Given the description of an element on the screen output the (x, y) to click on. 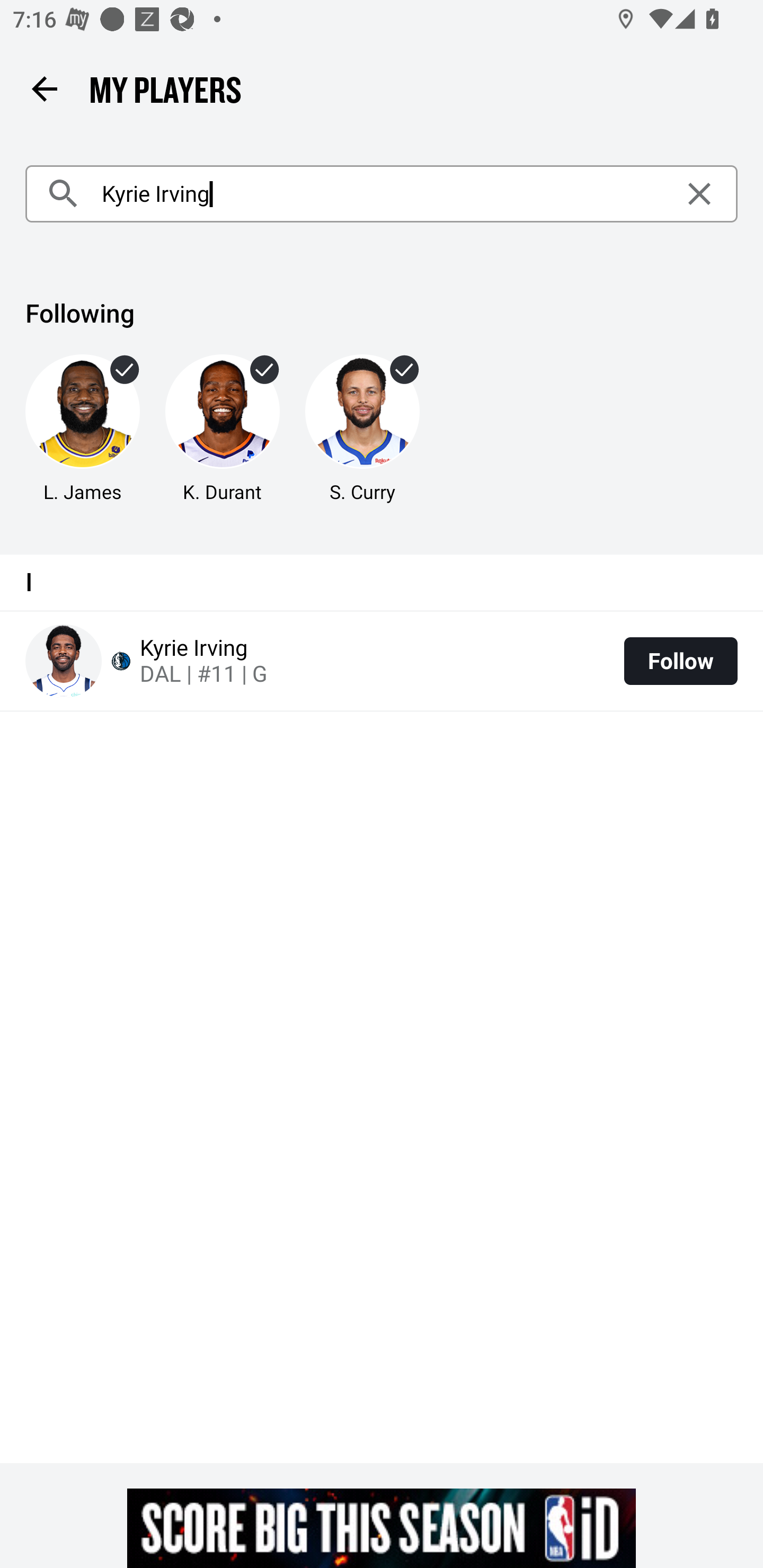
Back button (44, 88)
Kyrie Irving (381, 193)
Follow (680, 660)
g5nqqygr7owph (381, 1528)
